Given the description of an element on the screen output the (x, y) to click on. 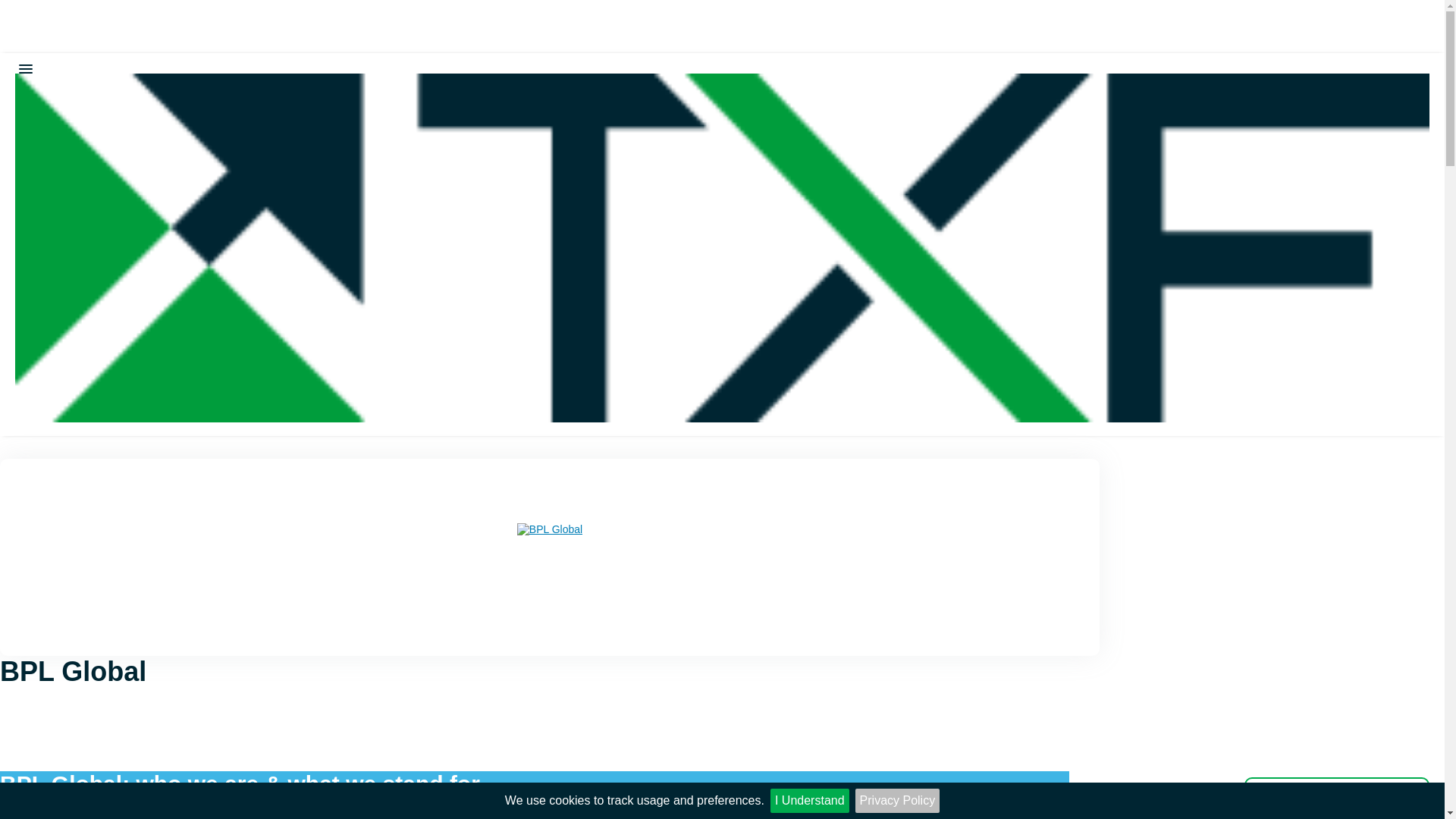
I Understand (809, 800)
Privacy Policy (898, 800)
WATCH ON DEMAND (1336, 798)
TEST YOUR CONNECTION (16, 157)
